Given the description of an element on the screen output the (x, y) to click on. 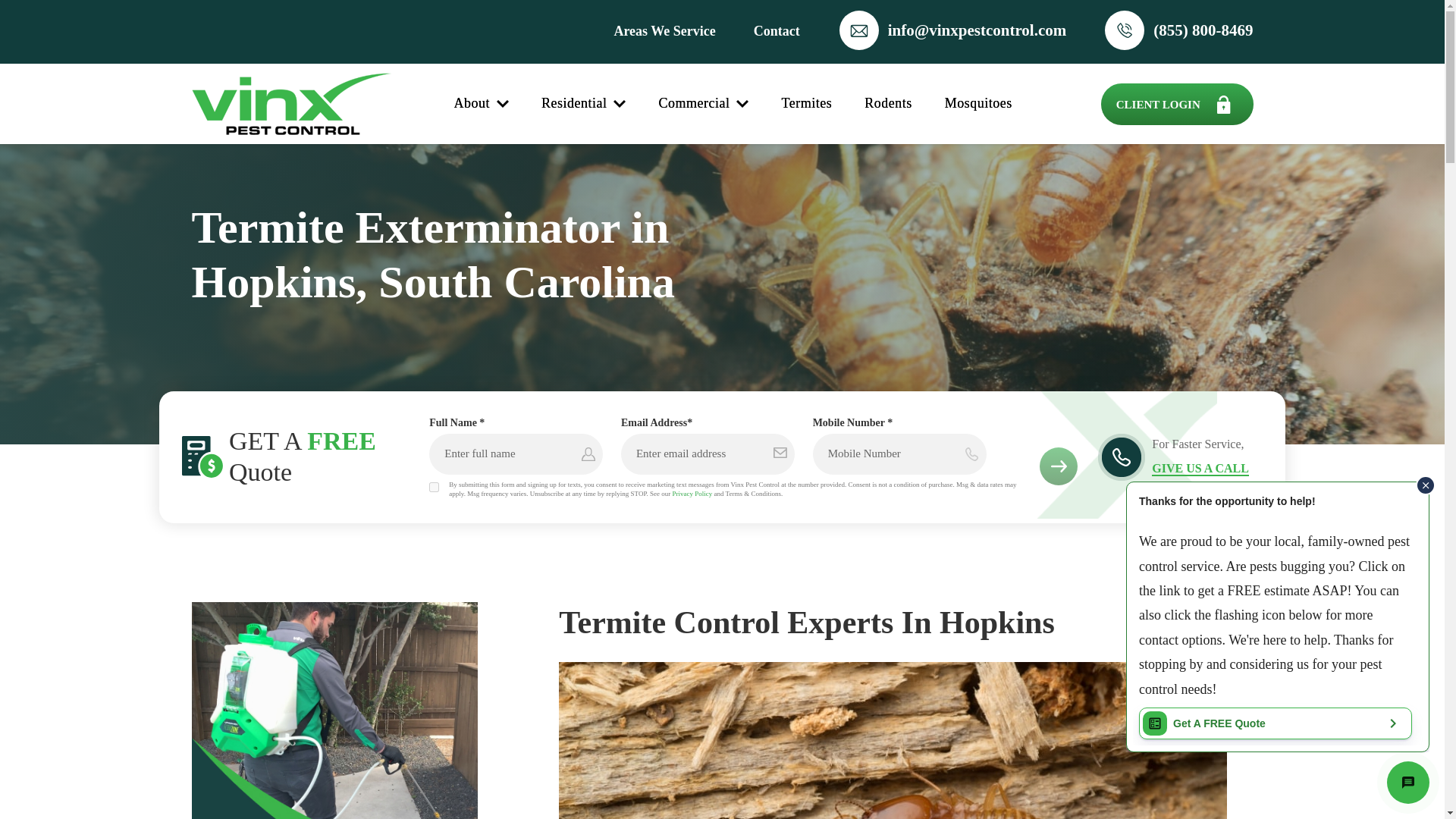
Areas We Service (663, 30)
Commercial (703, 103)
Submit (1058, 466)
Submit (1058, 466)
Privacy Policy (691, 493)
Yes (434, 487)
Contact (776, 30)
Residential (583, 103)
GIVE US A CALL (1200, 468)
Mosquitoes (977, 103)
Rodents (888, 103)
Termites (805, 103)
About (480, 103)
CLIENT LOGIN (1176, 104)
